Given the description of an element on the screen output the (x, y) to click on. 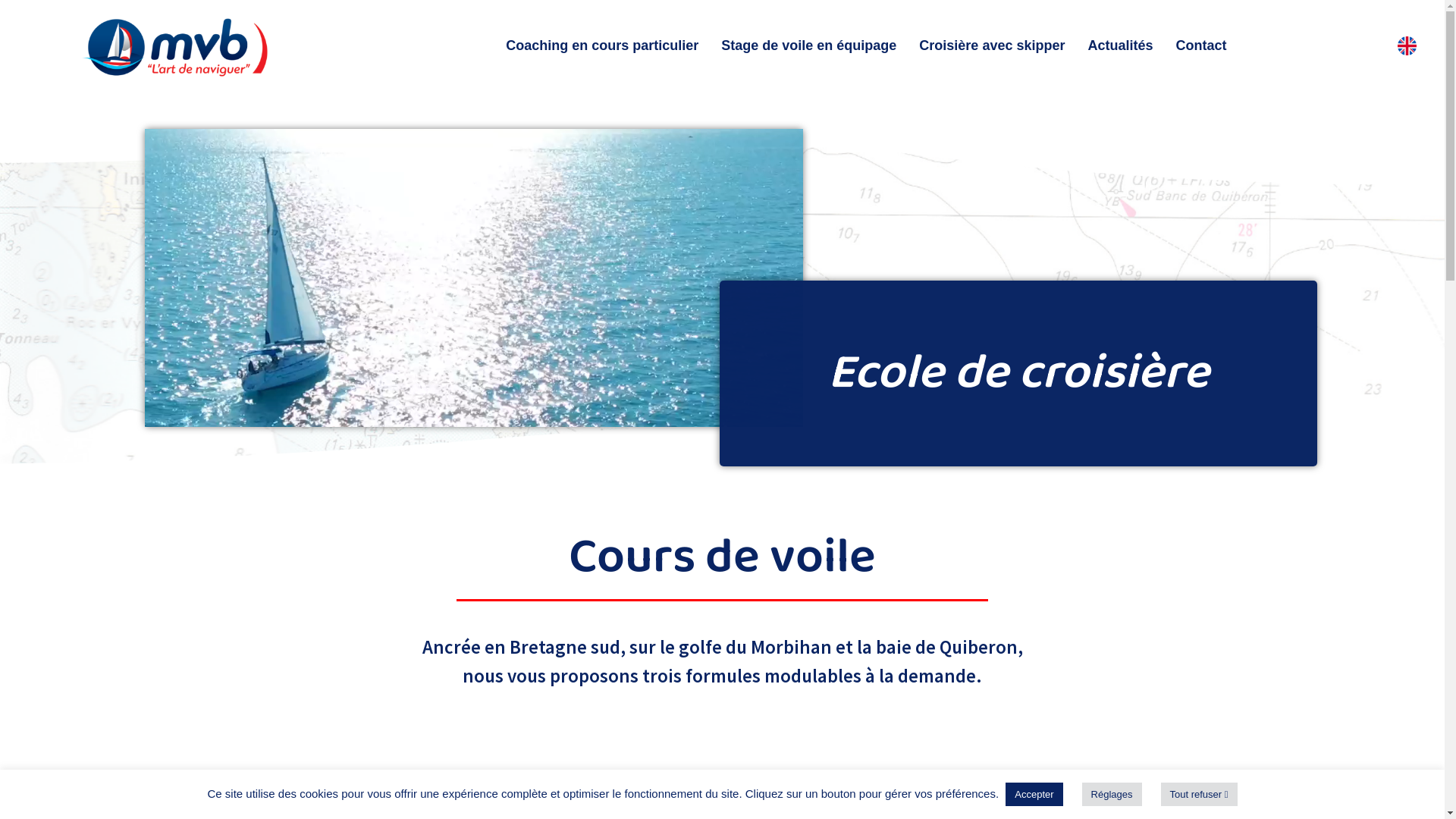
Coaching en cours particulier Element type: text (601, 45)
Accepter Element type: text (1033, 794)
Contact Element type: text (1200, 45)
